Given the description of an element on the screen output the (x, y) to click on. 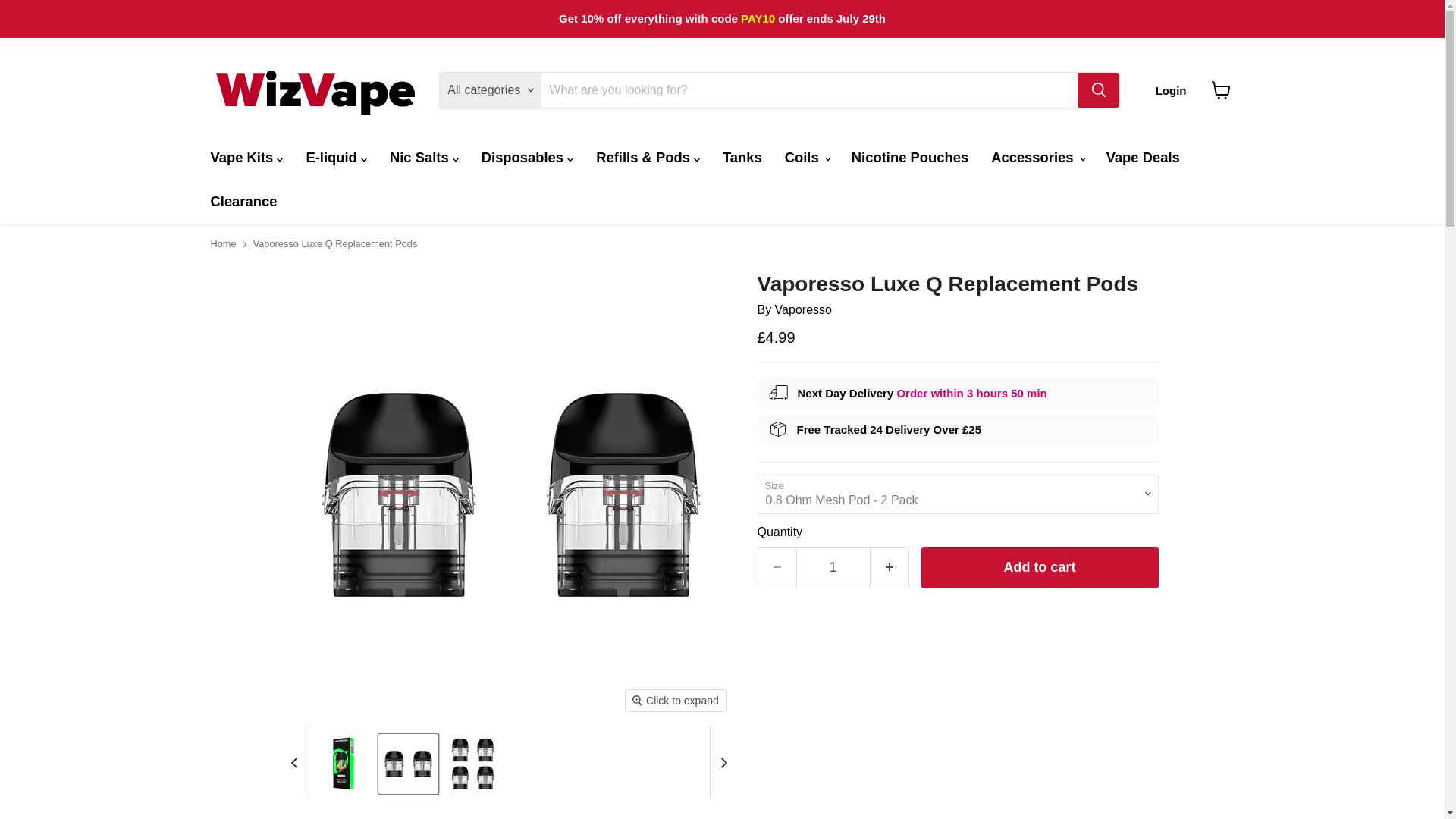
View cart (1221, 90)
1 (833, 567)
Login (1171, 90)
